Given the description of an element on the screen output the (x, y) to click on. 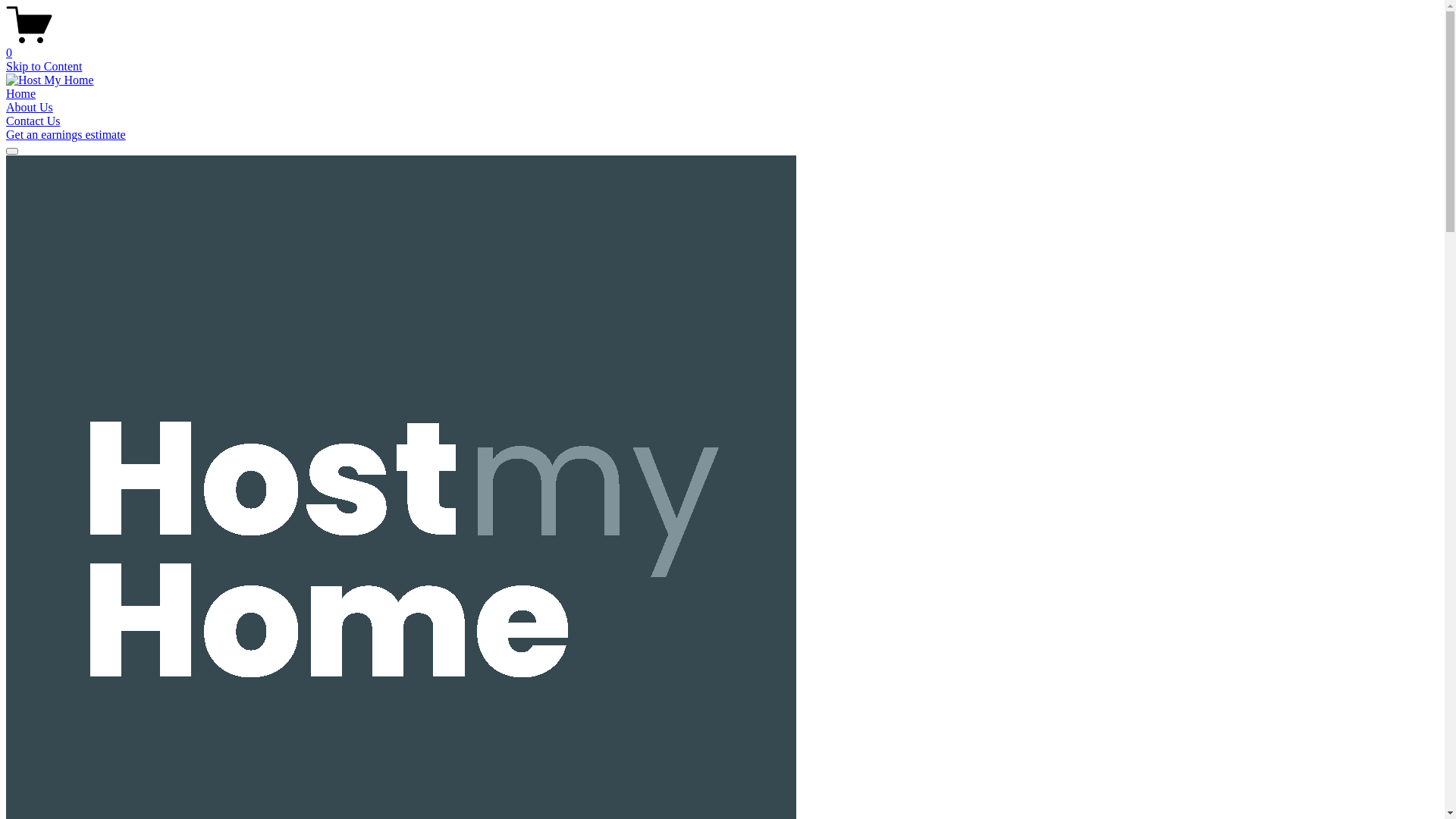
About Us Element type: text (29, 106)
Home Element type: text (20, 93)
Skip to Content Element type: text (43, 65)
0 Element type: text (722, 45)
Get an earnings estimate Element type: text (65, 134)
Contact Us Element type: text (33, 120)
